Given the description of an element on the screen output the (x, y) to click on. 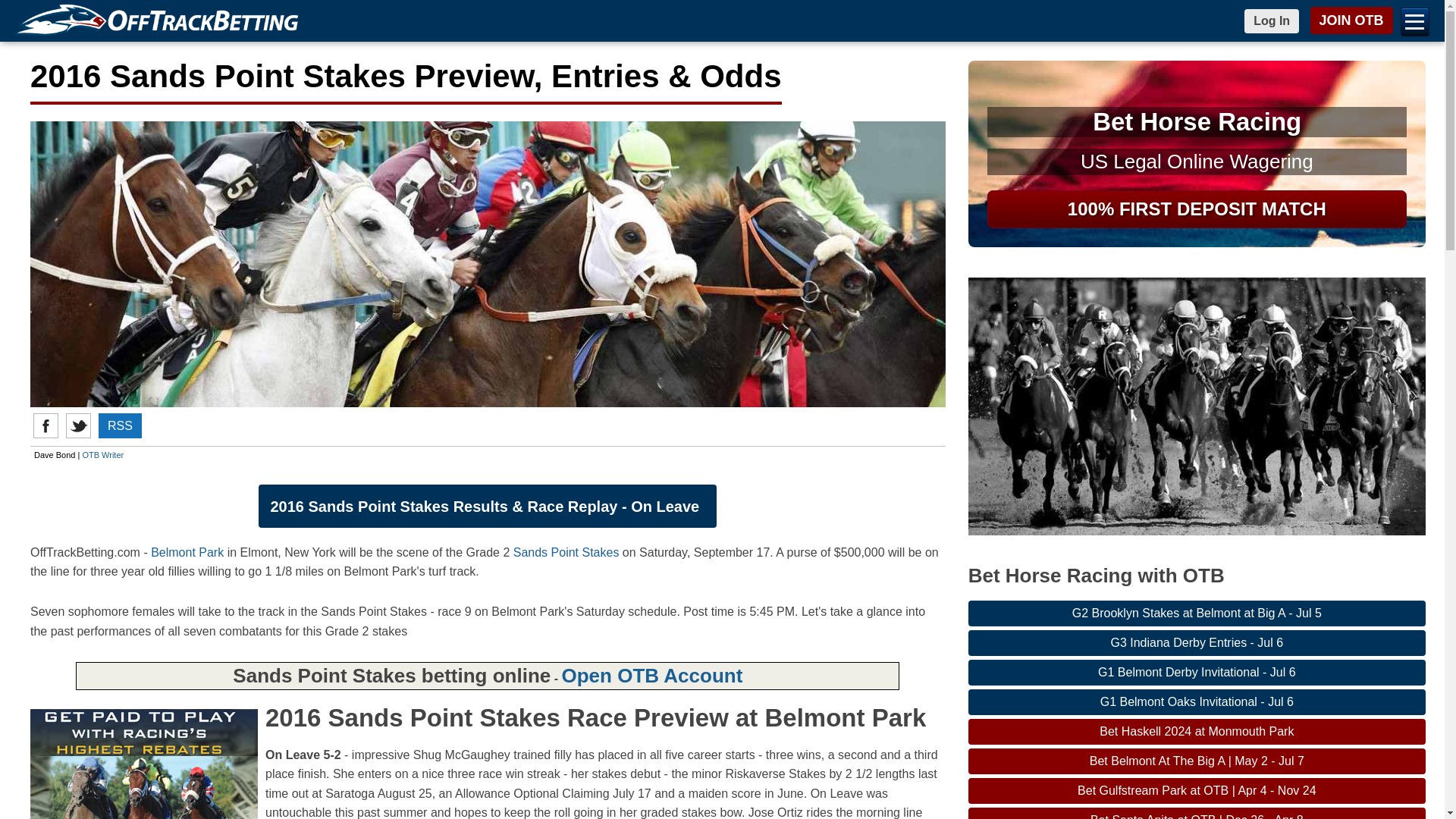
2024 Brooklyn Stakes Contenders (1196, 613)
Share with Facebook (45, 425)
Off Track Betting (159, 20)
Belmont Park (187, 552)
2024 Belmont Derby Invitational Contenders (1196, 672)
Horse Racing RSS Feeds (120, 425)
Share with Twitter (77, 425)
2024 Belmont Oaks Invitational Contenders (1196, 701)
2024 Indiana Derby Contenders (1196, 642)
Sands Point Stakes (566, 552)
Horse Racing Rebates (143, 764)
Bet Haskell 2024 with OTB (1196, 731)
